Given the description of an element on the screen output the (x, y) to click on. 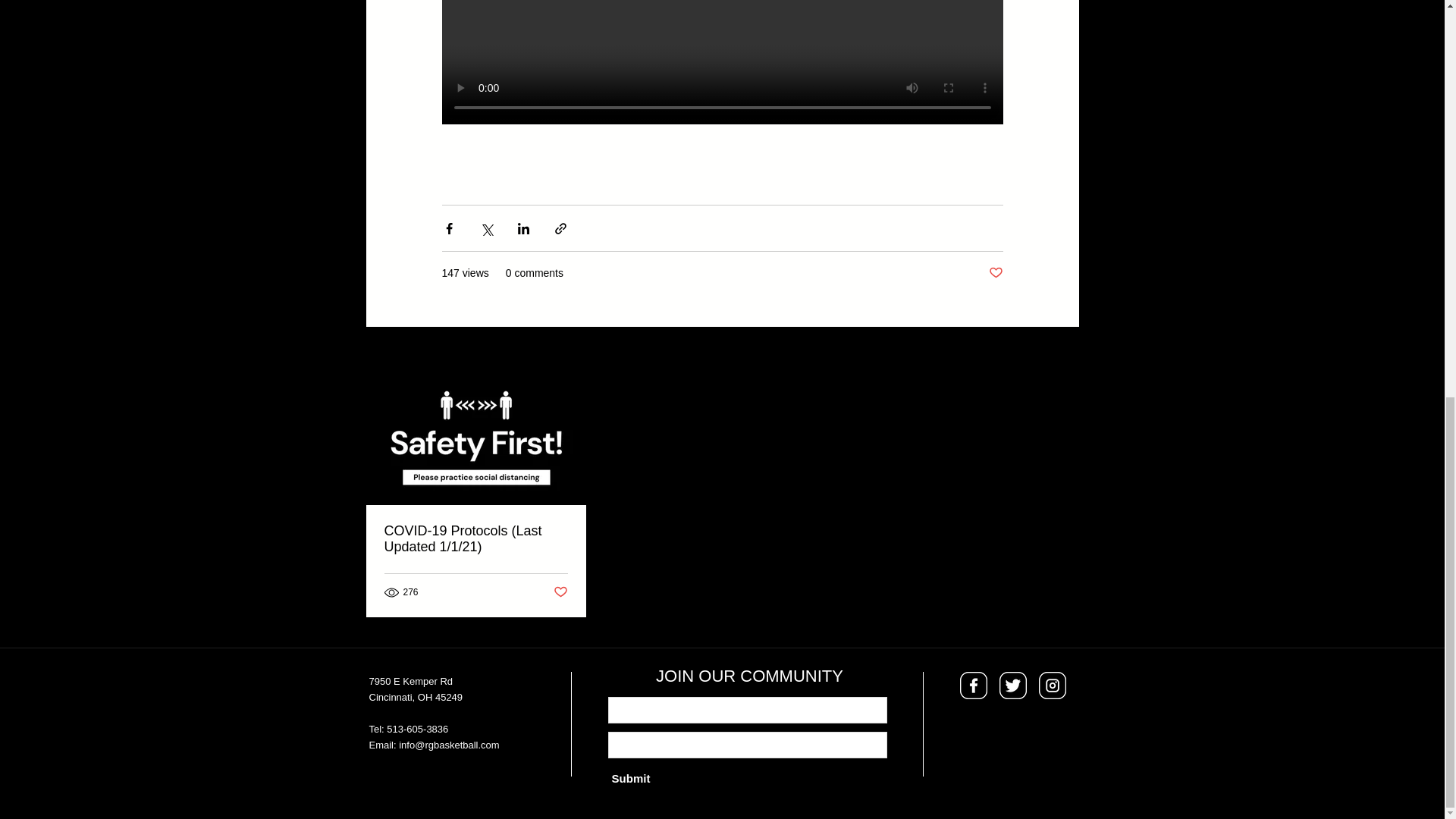
Post not marked as liked (560, 592)
See All (1061, 354)
Instagram (492, 788)
TikTok (326, 790)
Post not marked as liked (995, 273)
Submit (630, 777)
YouTube (409, 790)
